Given the description of an element on the screen output the (x, y) to click on. 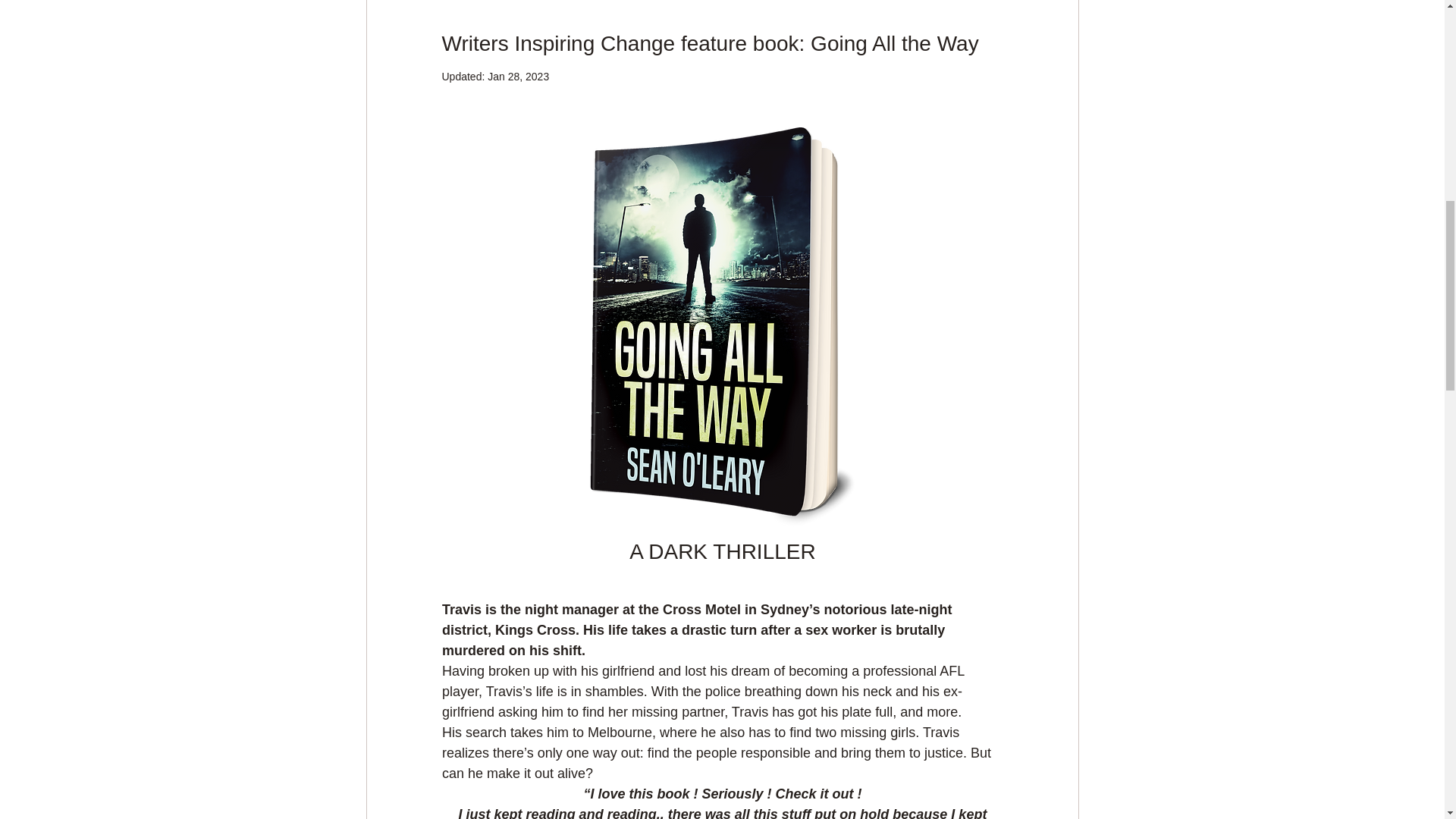
Jan 28, 2023 (517, 75)
